Given the description of an element on the screen output the (x, y) to click on. 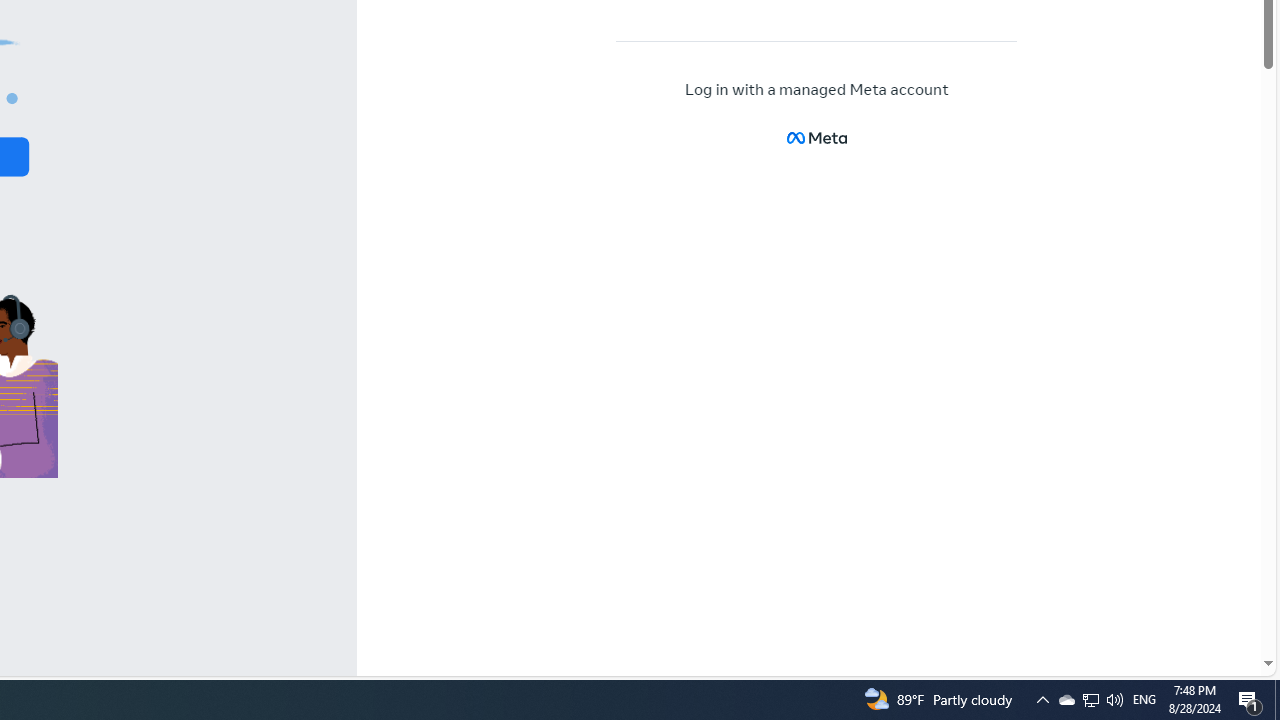
Meta logo (816, 137)
Log in with a managed Meta account (817, 90)
